Given the description of an element on the screen output the (x, y) to click on. 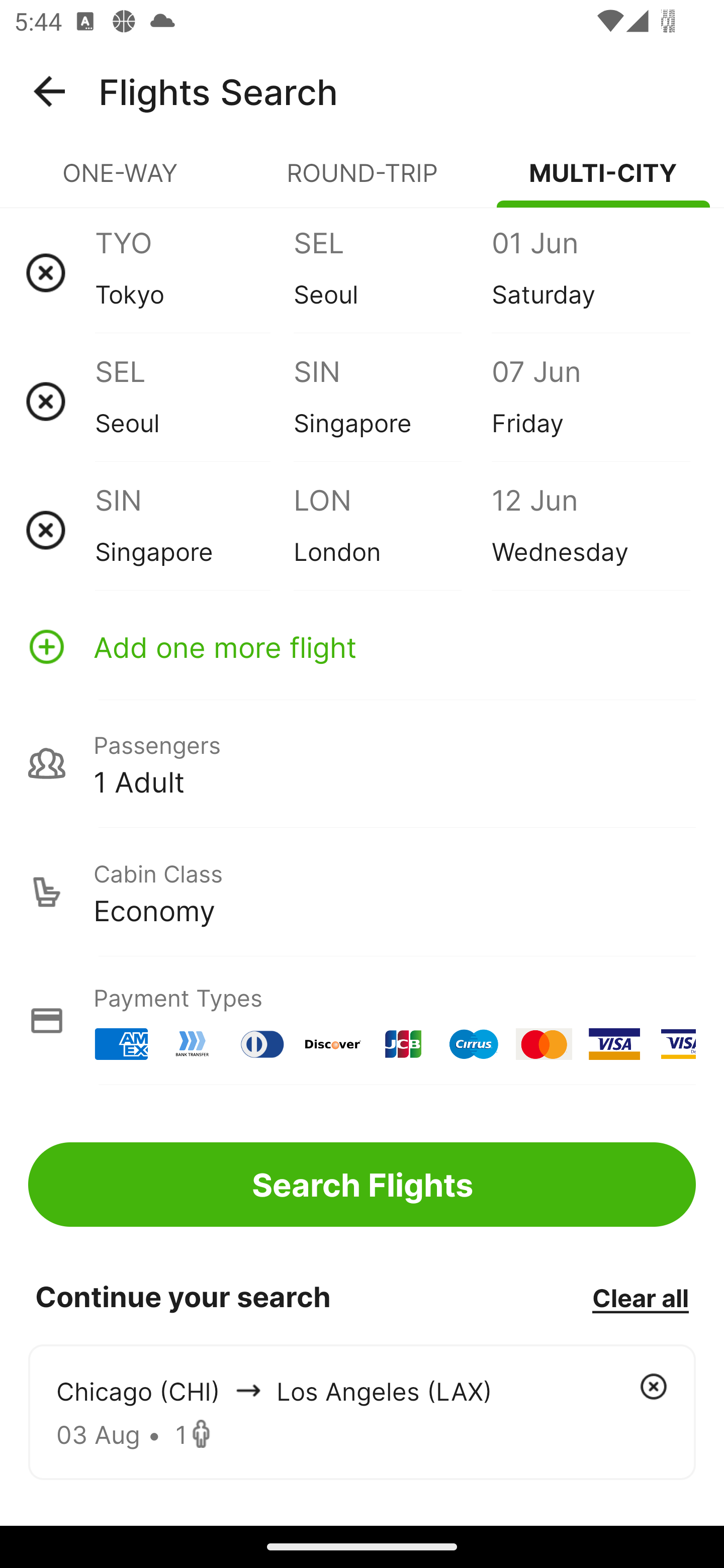
ONE-WAY (120, 180)
ROUND-TRIP (361, 180)
MULTI-CITY (603, 180)
TYO Tokyo (193, 272)
SEL Seoul (392, 272)
01 Jun Saturday (590, 272)
SEL Seoul (193, 401)
SIN Singapore (392, 401)
07 Jun Friday (590, 401)
SIN Singapore (193, 529)
LON London (392, 529)
12 Jun Wednesday (590, 529)
Add one more flight (362, 646)
Passengers 1 Adult (362, 762)
Cabin Class Economy (362, 891)
Payment Types (362, 1020)
Search Flights (361, 1184)
Clear all (640, 1297)
